Given the description of an element on the screen output the (x, y) to click on. 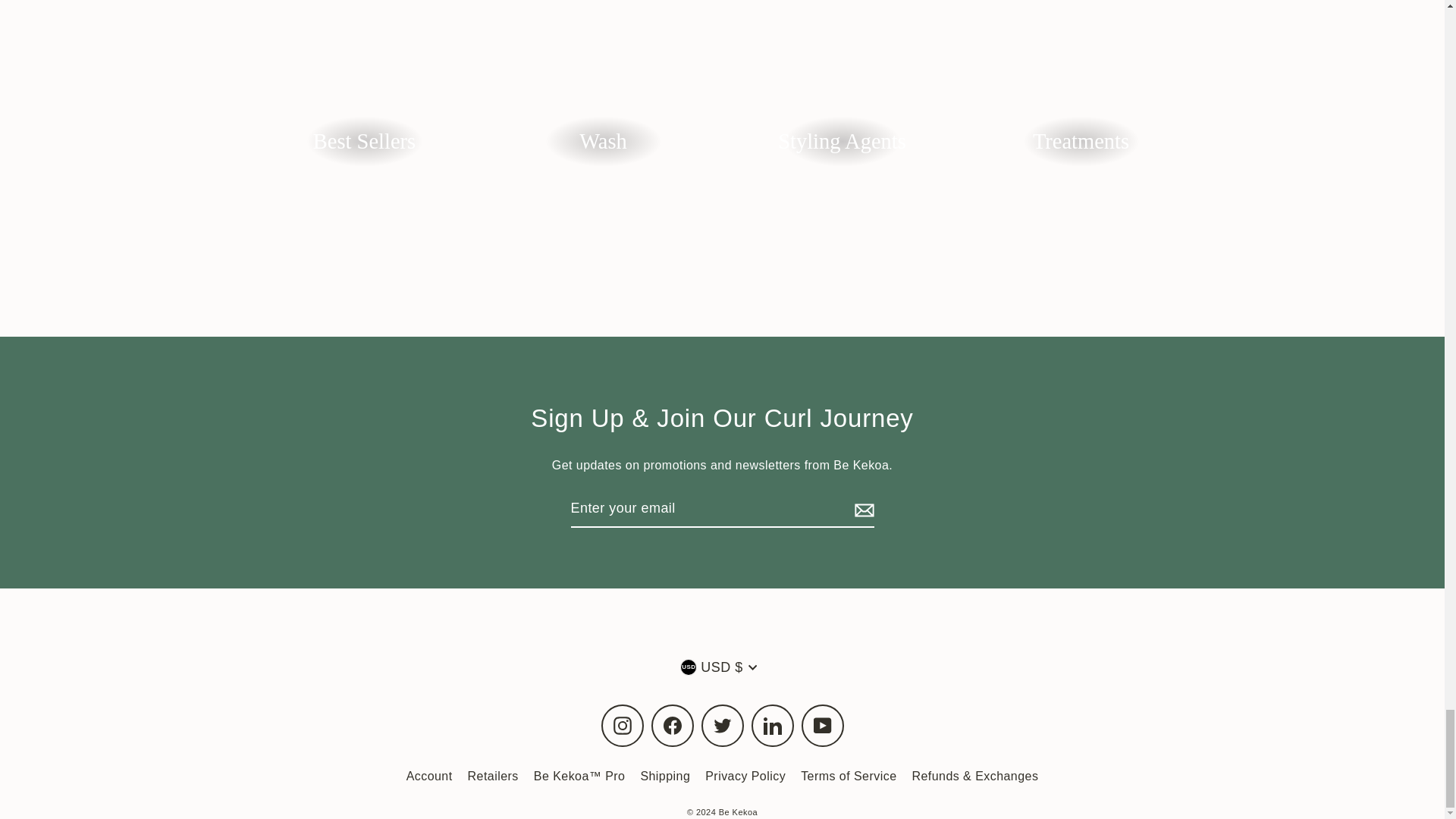
Be Kekoa on LinkedIn (772, 725)
Be Kekoa on Twitter (721, 725)
Be Kekoa on Facebook (671, 725)
Be Kekoa on Instagram (621, 725)
Be Kekoa on YouTube (821, 725)
